Given the description of an element on the screen output the (x, y) to click on. 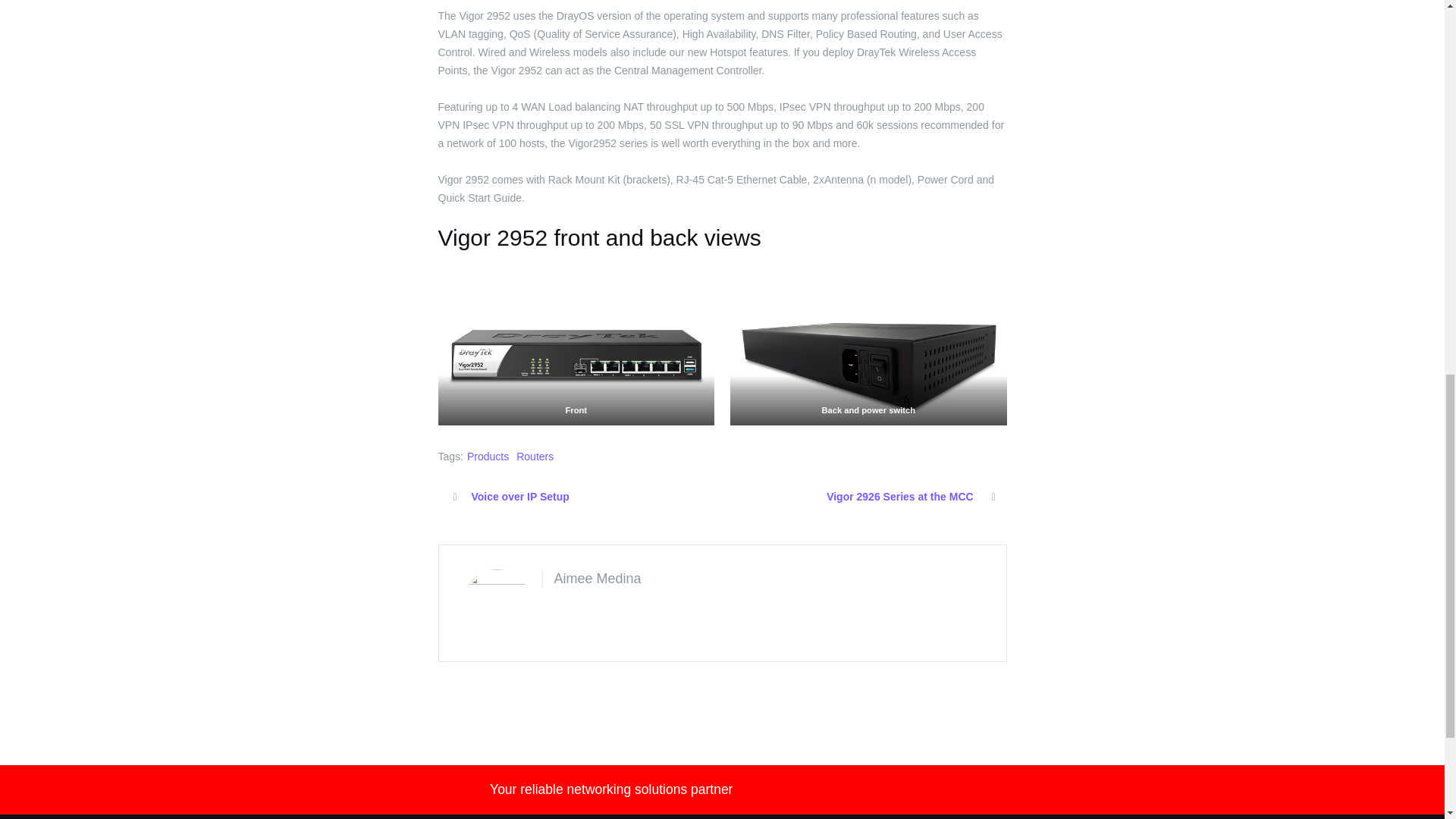
Products (487, 456)
Voice over IP Setup (519, 496)
Vigor 2926 Series at the MCC (899, 496)
Routers (534, 456)
